Given the description of an element on the screen output the (x, y) to click on. 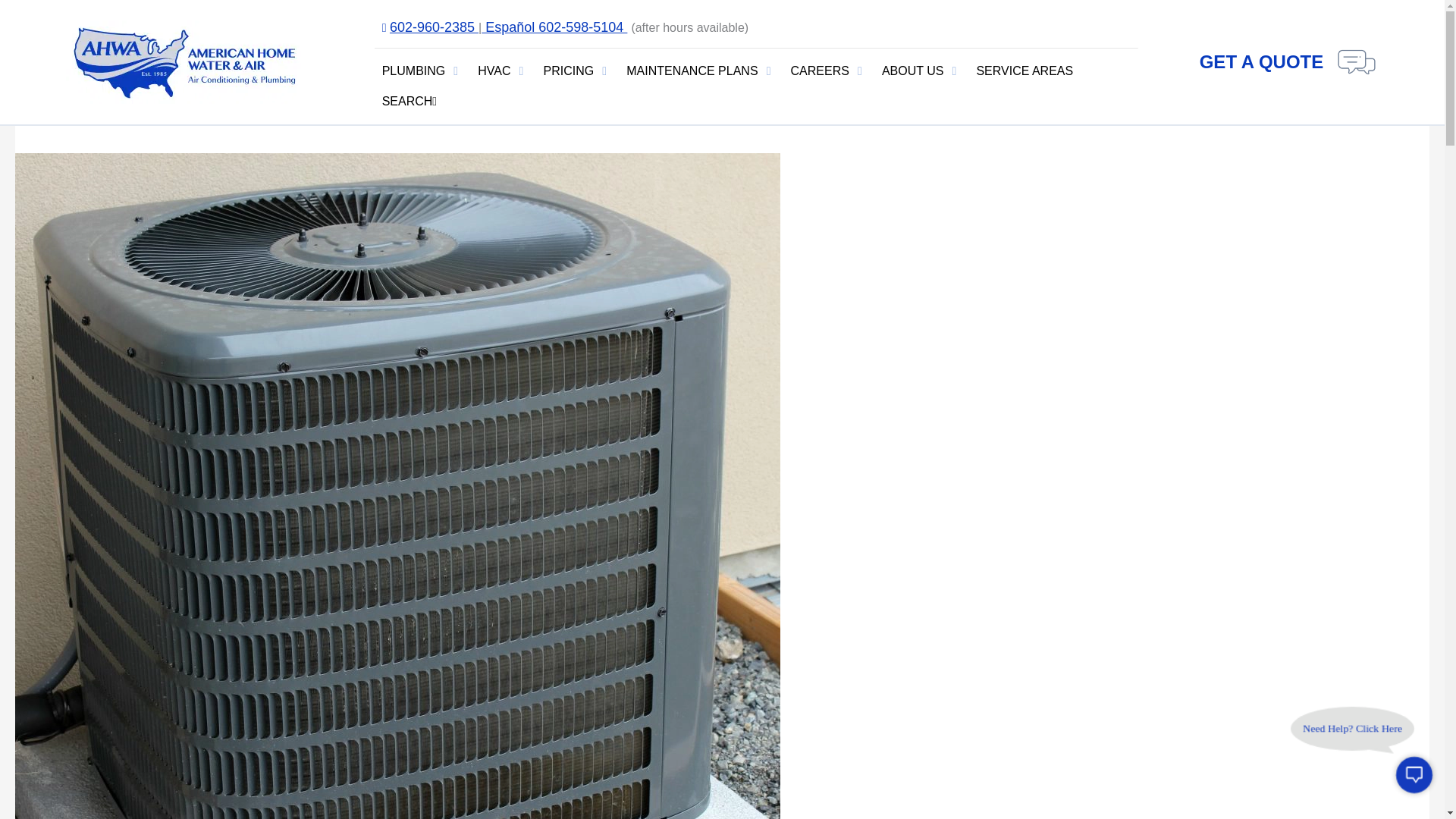
PRICING (568, 70)
PLUMBING (413, 70)
HVAC (494, 70)
602-960-2385 (434, 27)
